Given the description of an element on the screen output the (x, y) to click on. 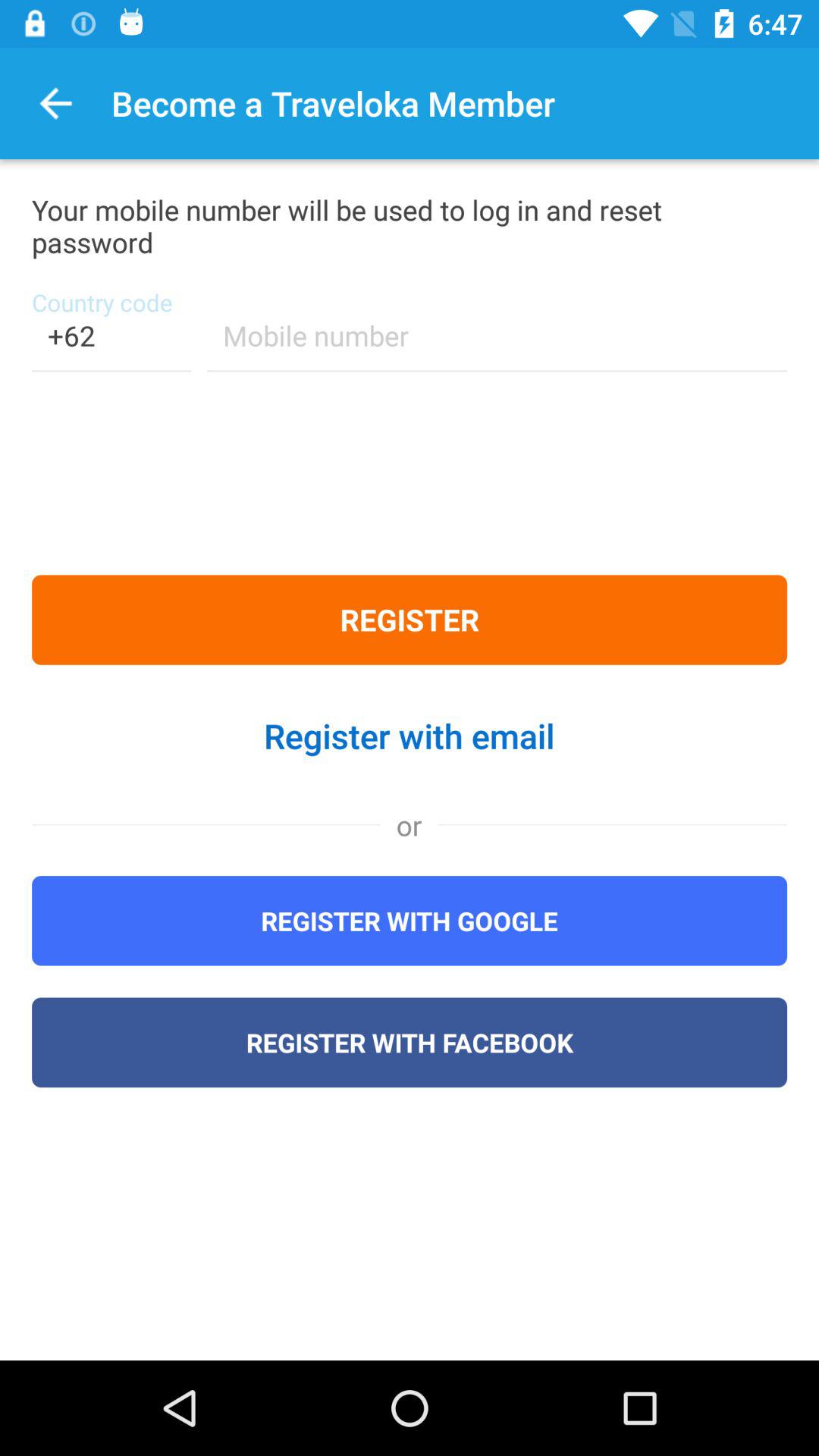
choose item above the register (111, 345)
